Given the description of an element on the screen output the (x, y) to click on. 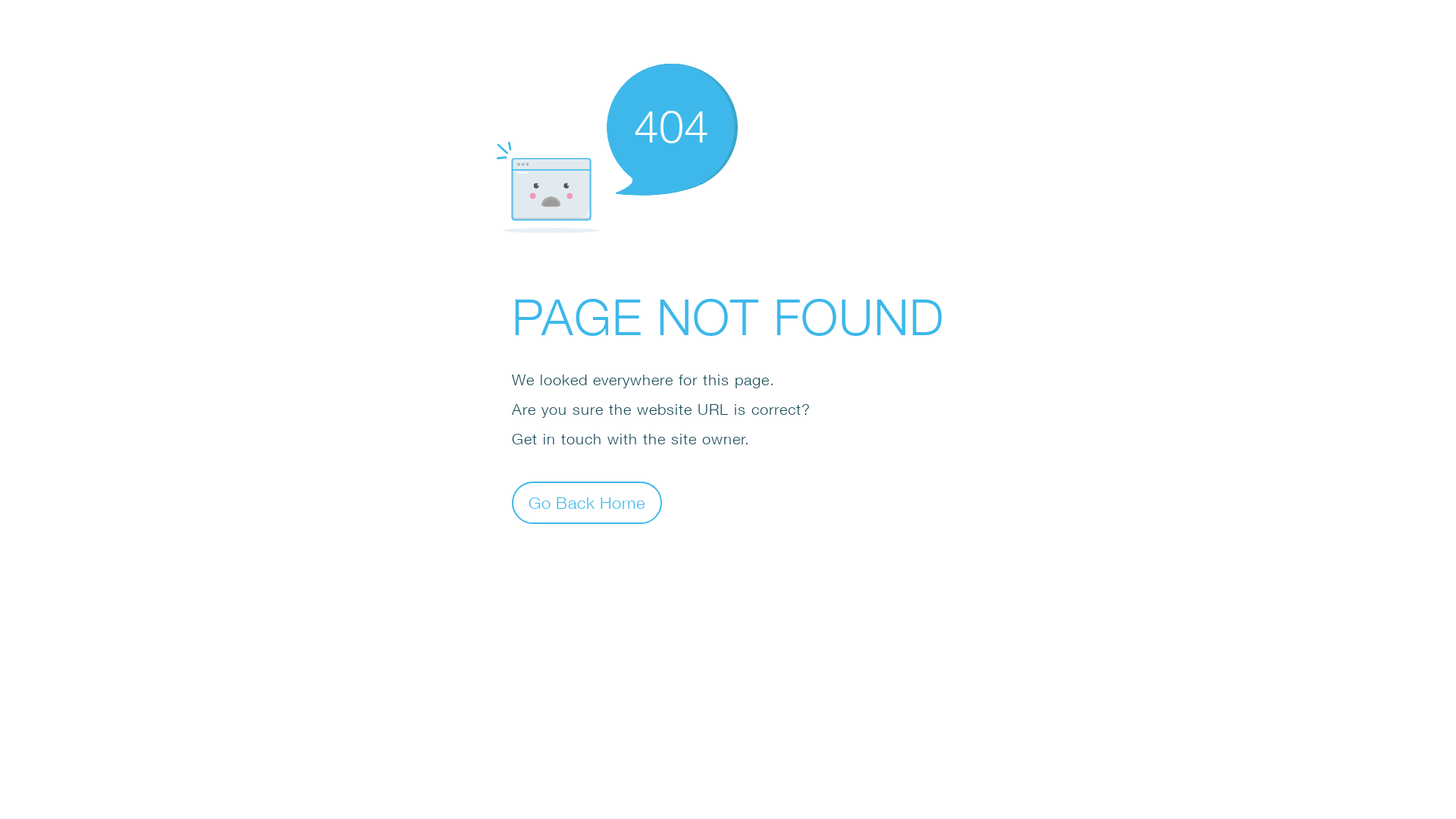
Go Back Home Element type: text (586, 502)
